Given the description of an element on the screen output the (x, y) to click on. 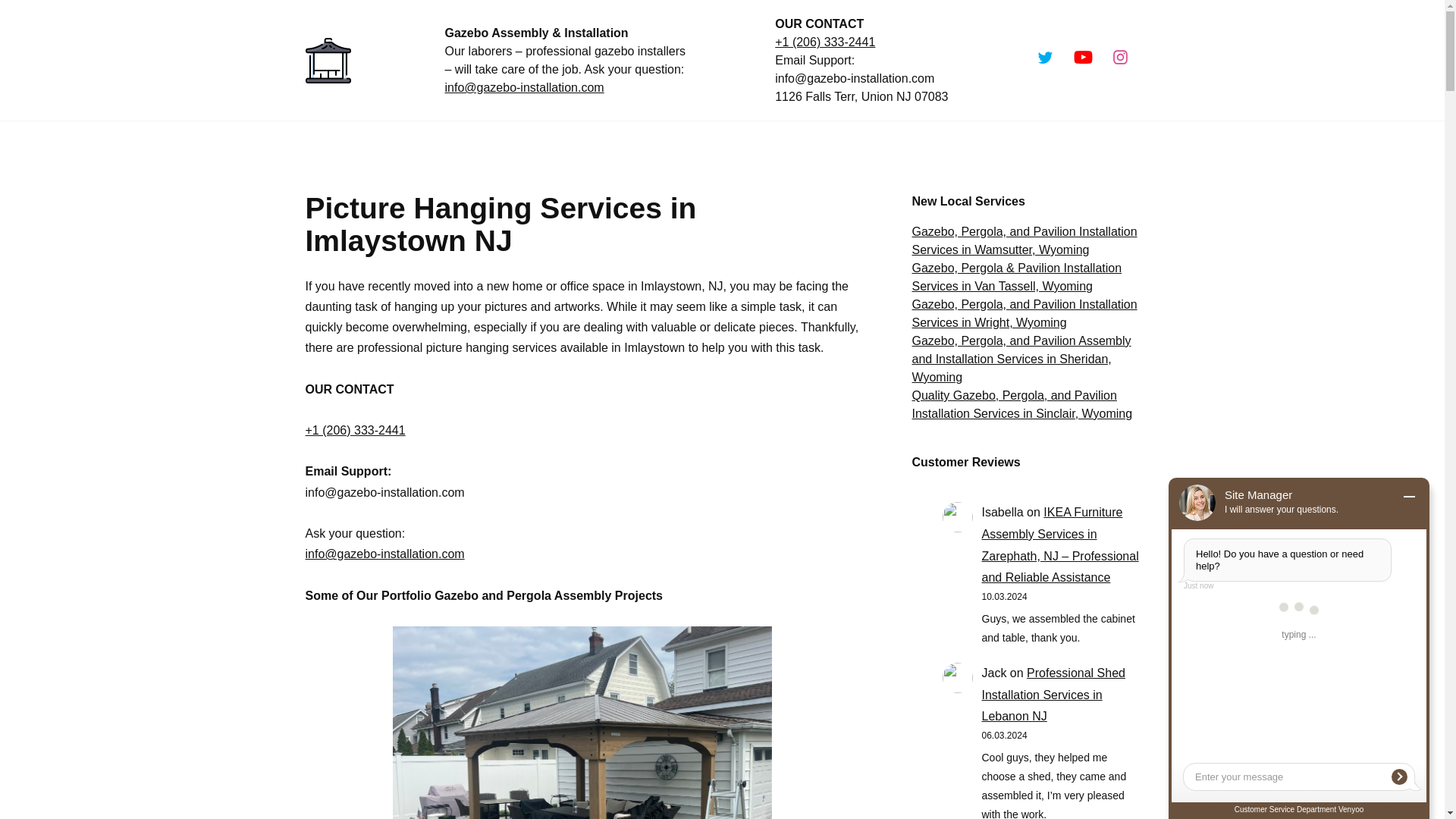
LOCATIONS USA (663, 145)
GAZEBO INSTALLATION (380, 145)
CUSTOMER REVIEWS (902, 145)
HANDYMAN NJ (527, 145)
PORTFOLIO (780, 145)
CONTACT US (1029, 145)
